Given the description of an element on the screen output the (x, y) to click on. 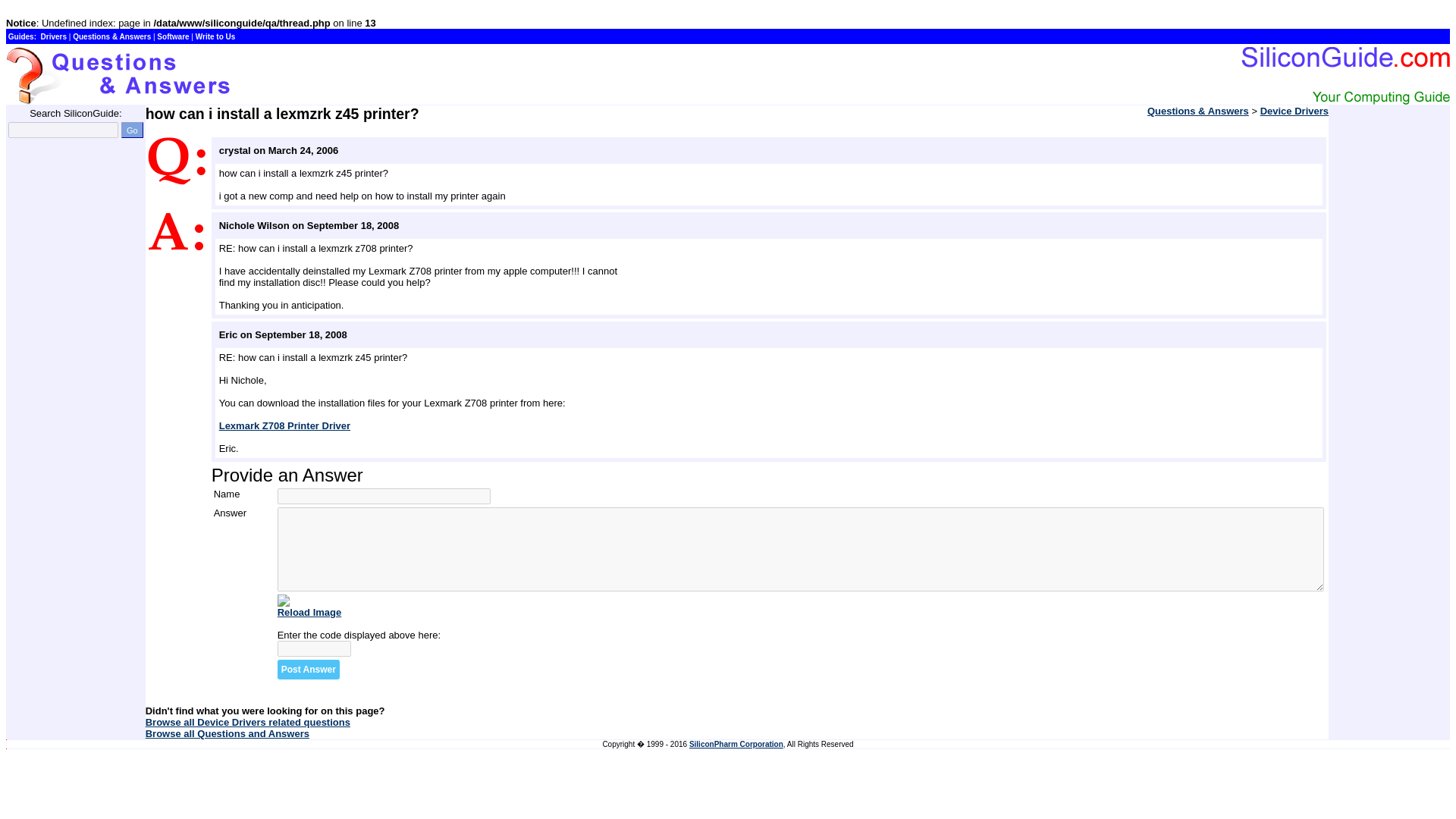
SiliconPharm Corporation (735, 744)
Drivers (53, 35)
Browse all Device Drivers related questions (247, 722)
Reload Image (310, 612)
Go (131, 130)
Lexmark Z708 Printer Driver (284, 425)
Post Answer (308, 669)
Go (131, 130)
Browse all Questions and Answers (226, 733)
Device Drivers (1293, 111)
